Given the description of an element on the screen output the (x, y) to click on. 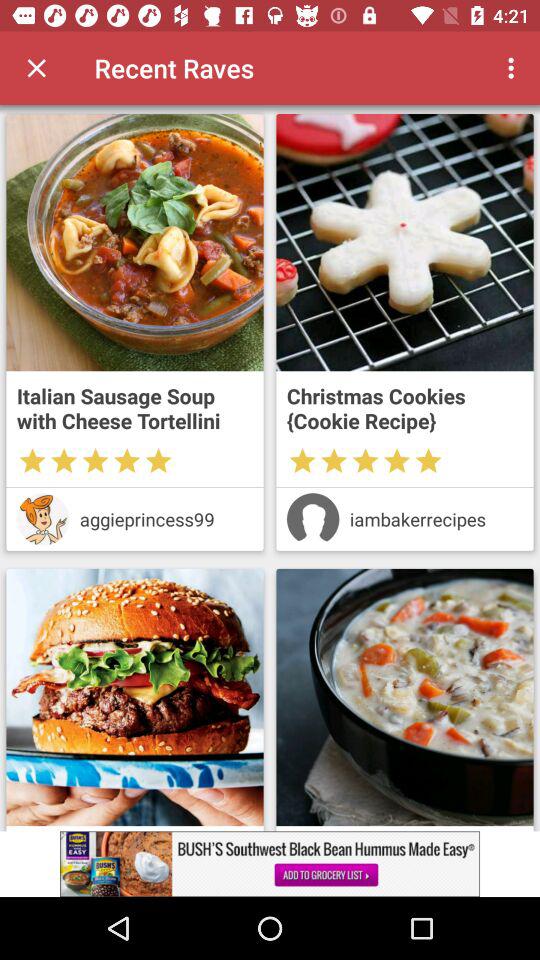
switch to recipe details (404, 242)
